Given the description of an element on the screen output the (x, y) to click on. 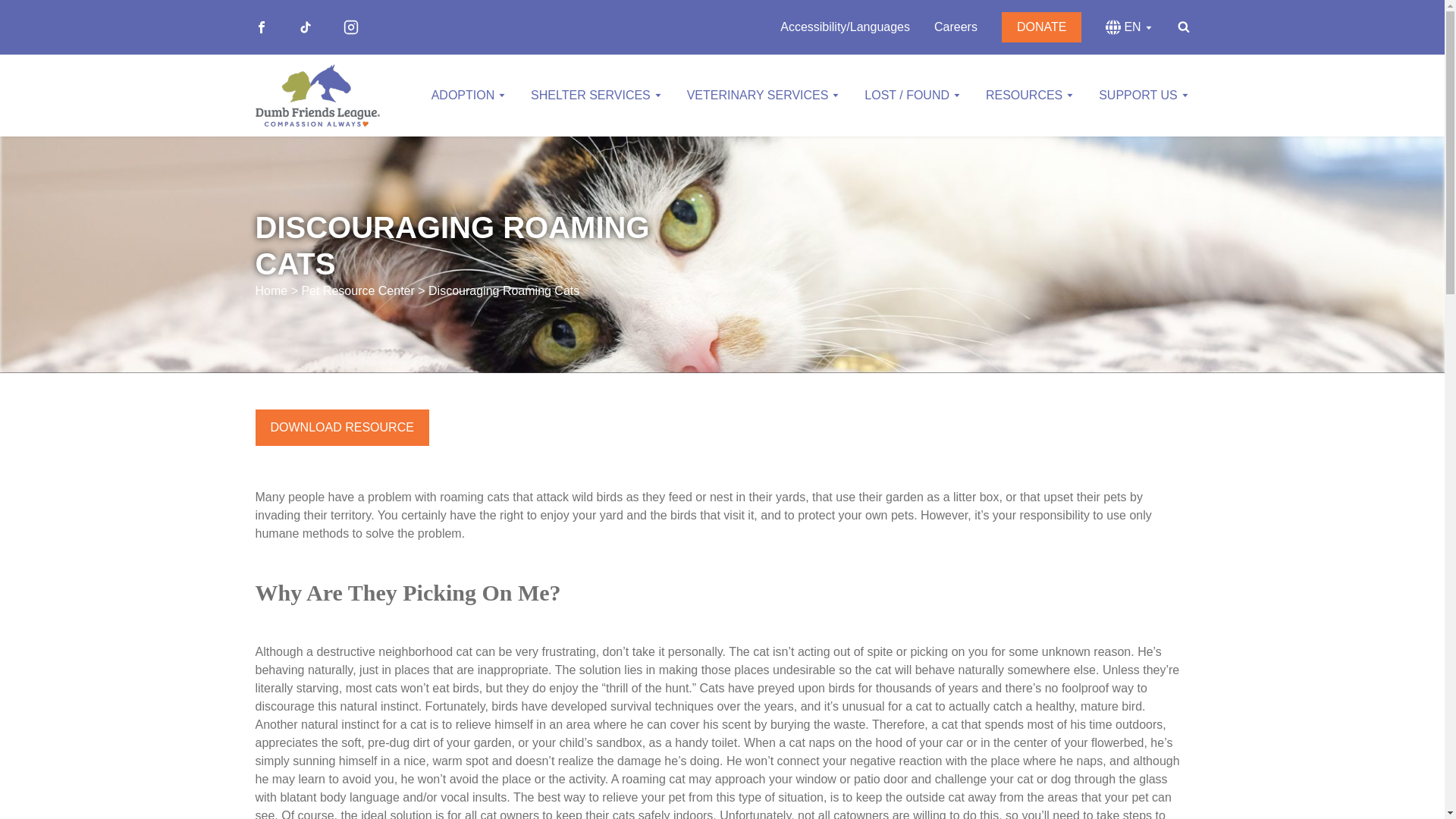
Facebook (260, 27)
TikTok (305, 27)
Instagram (350, 27)
Go to Pet Resource Center. (357, 290)
Go to Dumb Friends League. (270, 290)
RESOURCES (1029, 95)
SHELTER SERVICES (596, 95)
Instagram (350, 27)
VETERINARY SERVICES (764, 95)
EN (1129, 27)
